Given the description of an element on the screen output the (x, y) to click on. 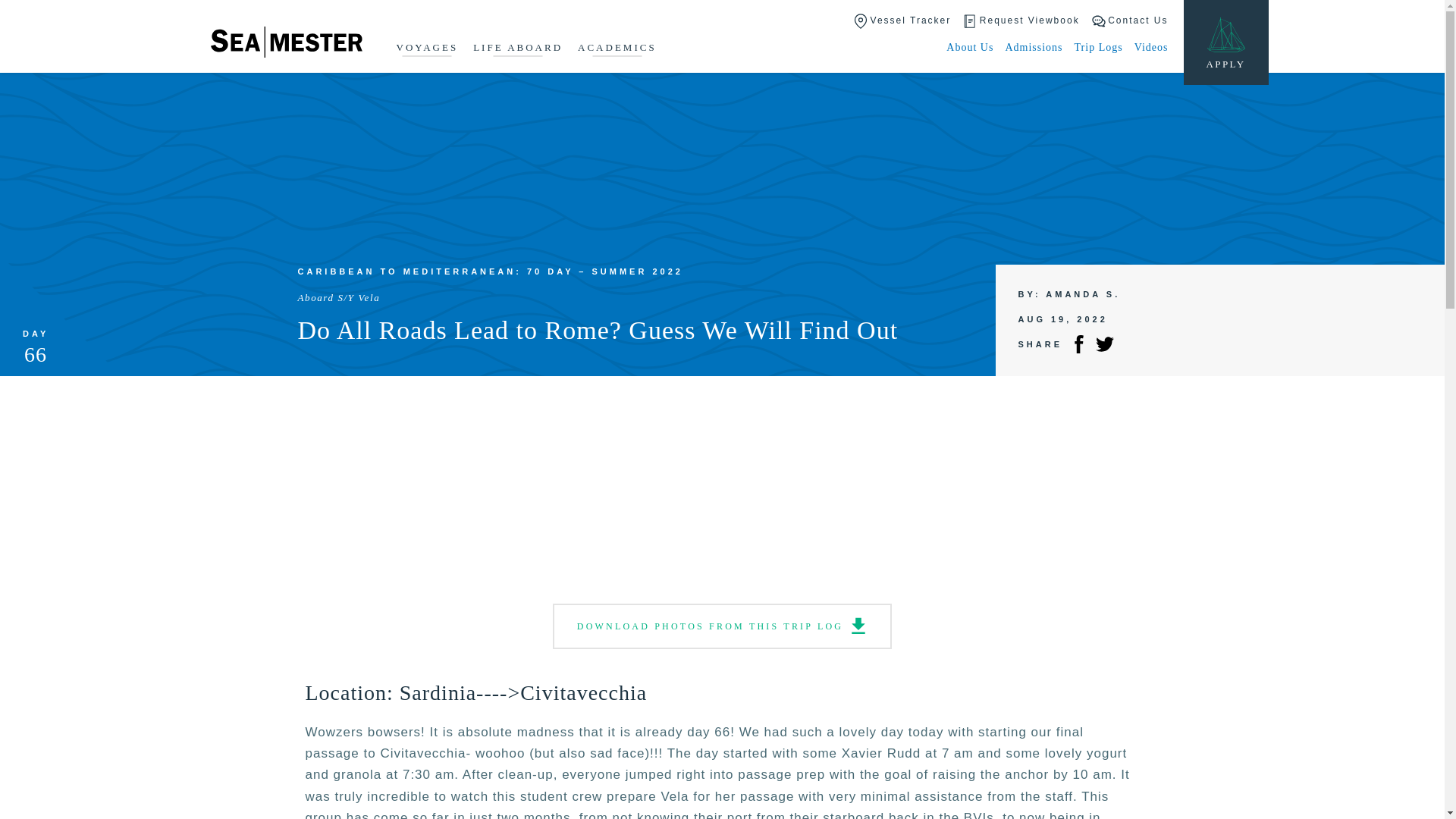
Request Viewbook (1020, 20)
Videos (1151, 47)
Admissions (1033, 47)
Trip Logs (1098, 47)
LIFE ABOARD (517, 48)
VOYAGES (427, 48)
About Us (969, 47)
Contact Us (1129, 20)
Vessel Tracker (901, 20)
ACADEMICS (617, 48)
